Given the description of an element on the screen output the (x, y) to click on. 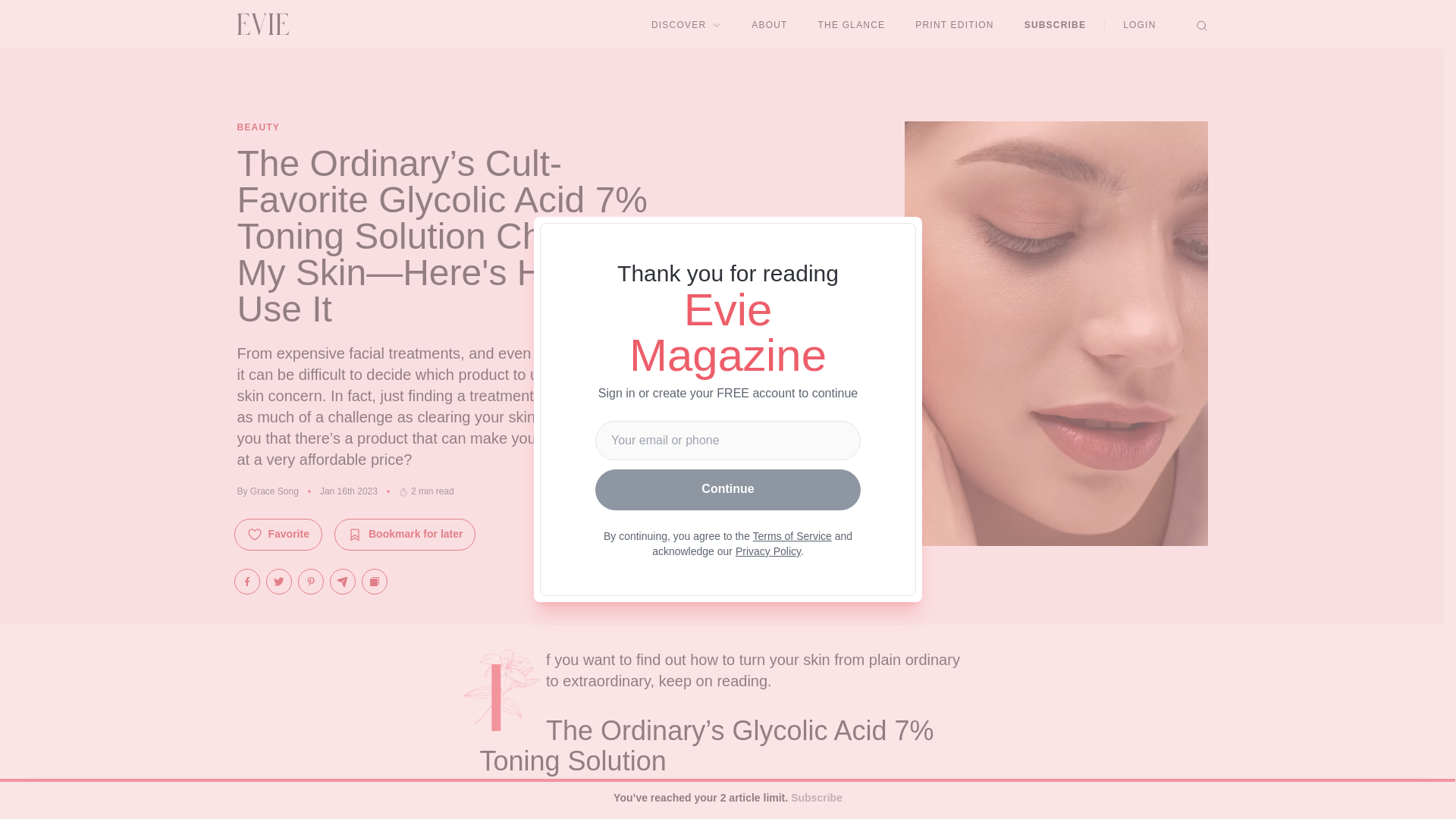
SUBSCRIBE (1055, 24)
By Grace Song (266, 491)
Subscribe (816, 798)
PRINT EDITION (953, 24)
DISCOVER (685, 24)
LOGIN (1139, 24)
THE GLANCE (851, 24)
Copy to Clipboard (374, 581)
Bookmark for later (405, 534)
Evie Magazine (261, 24)
